Given the description of an element on the screen output the (x, y) to click on. 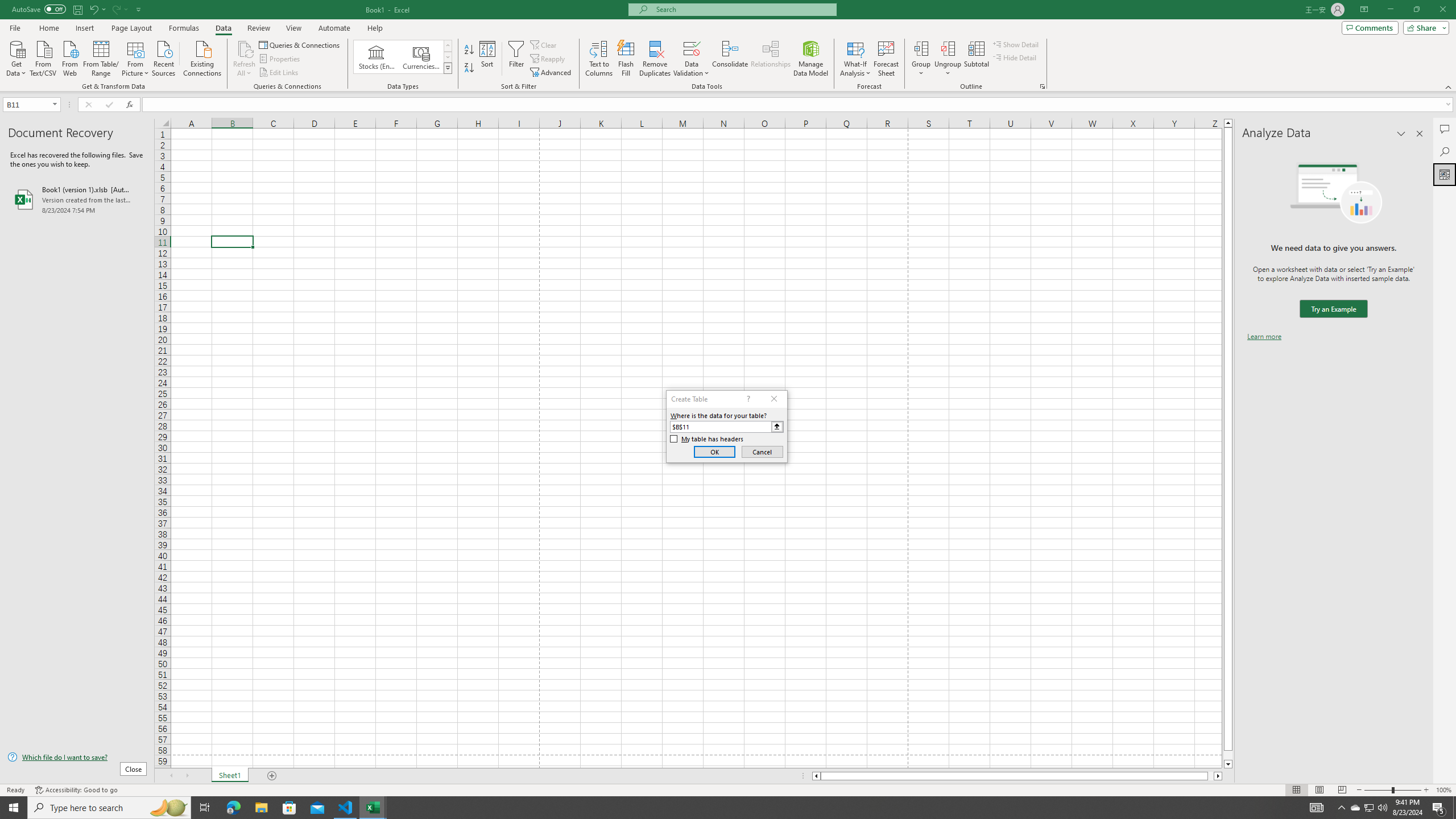
Close pane (1419, 133)
From Table/Range (100, 57)
From Web (69, 57)
Subtotal (976, 58)
Ungroup... (947, 48)
From Picture (135, 57)
Group and Outline Settings (1042, 85)
